Given the description of an element on the screen output the (x, y) to click on. 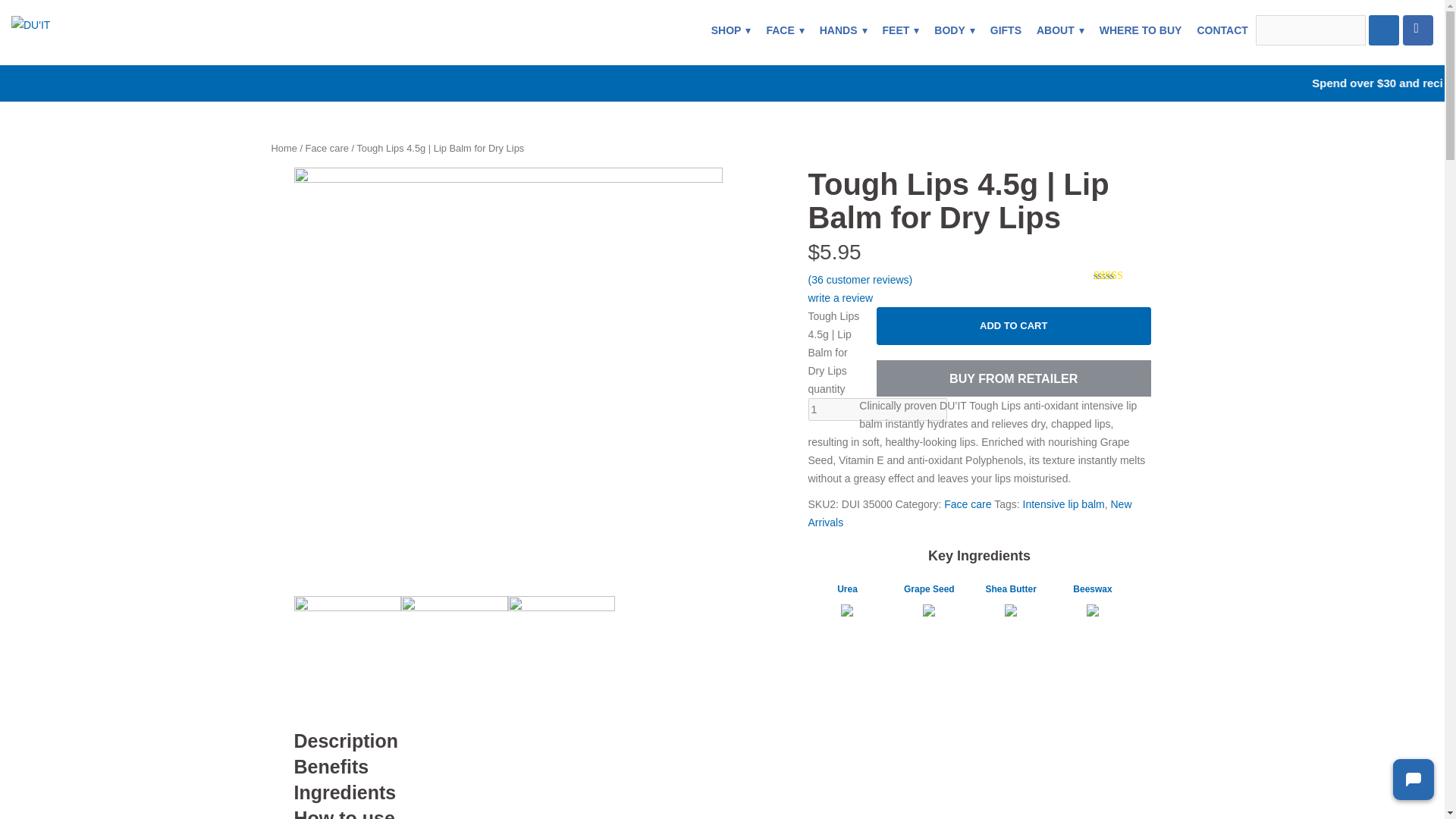
Tough Lips lip balm 2 (561, 649)
HANDS (843, 29)
SHOP (730, 29)
Tough Lips intensive lip balm 2 (454, 649)
1 (877, 409)
FACE (784, 29)
2 BENEFITS 1280px-10 (347, 649)
DU'IT (30, 24)
Start shopping (1417, 30)
